Given the description of an element on the screen output the (x, y) to click on. 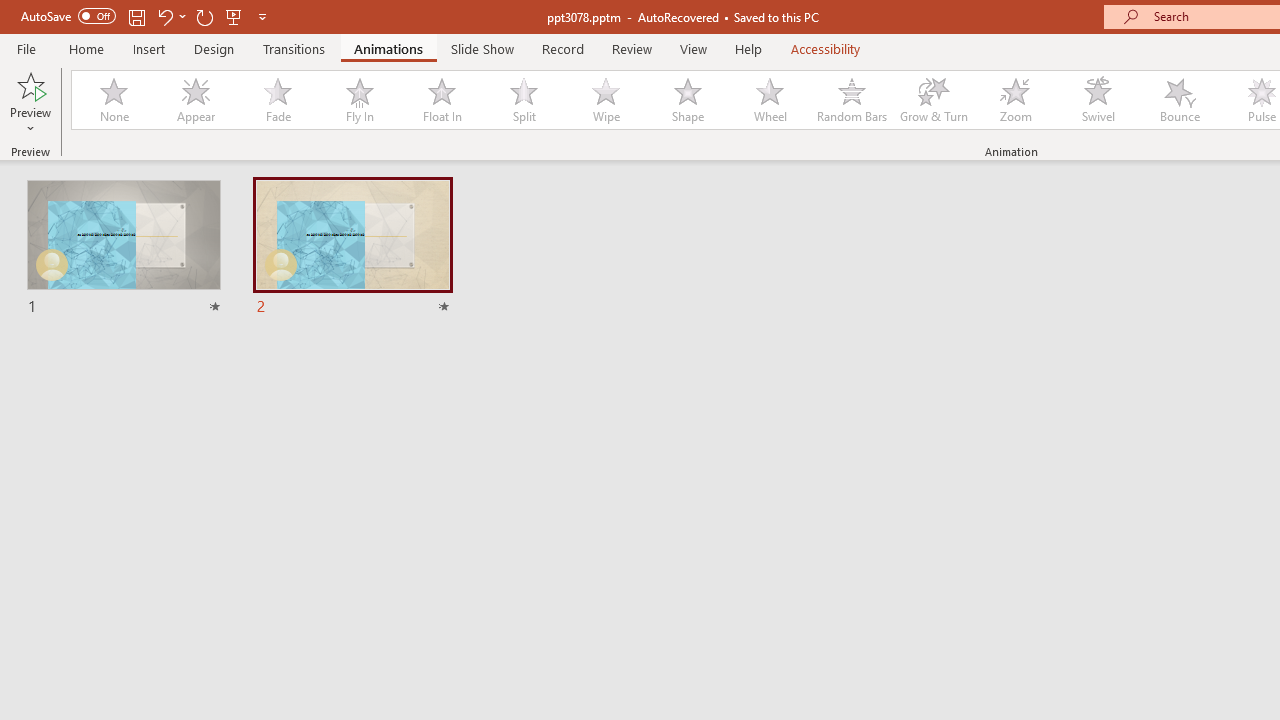
Bounce (1180, 100)
Float In (441, 100)
Fly In (359, 100)
Grow & Turn (934, 100)
